Given the description of an element on the screen output the (x, y) to click on. 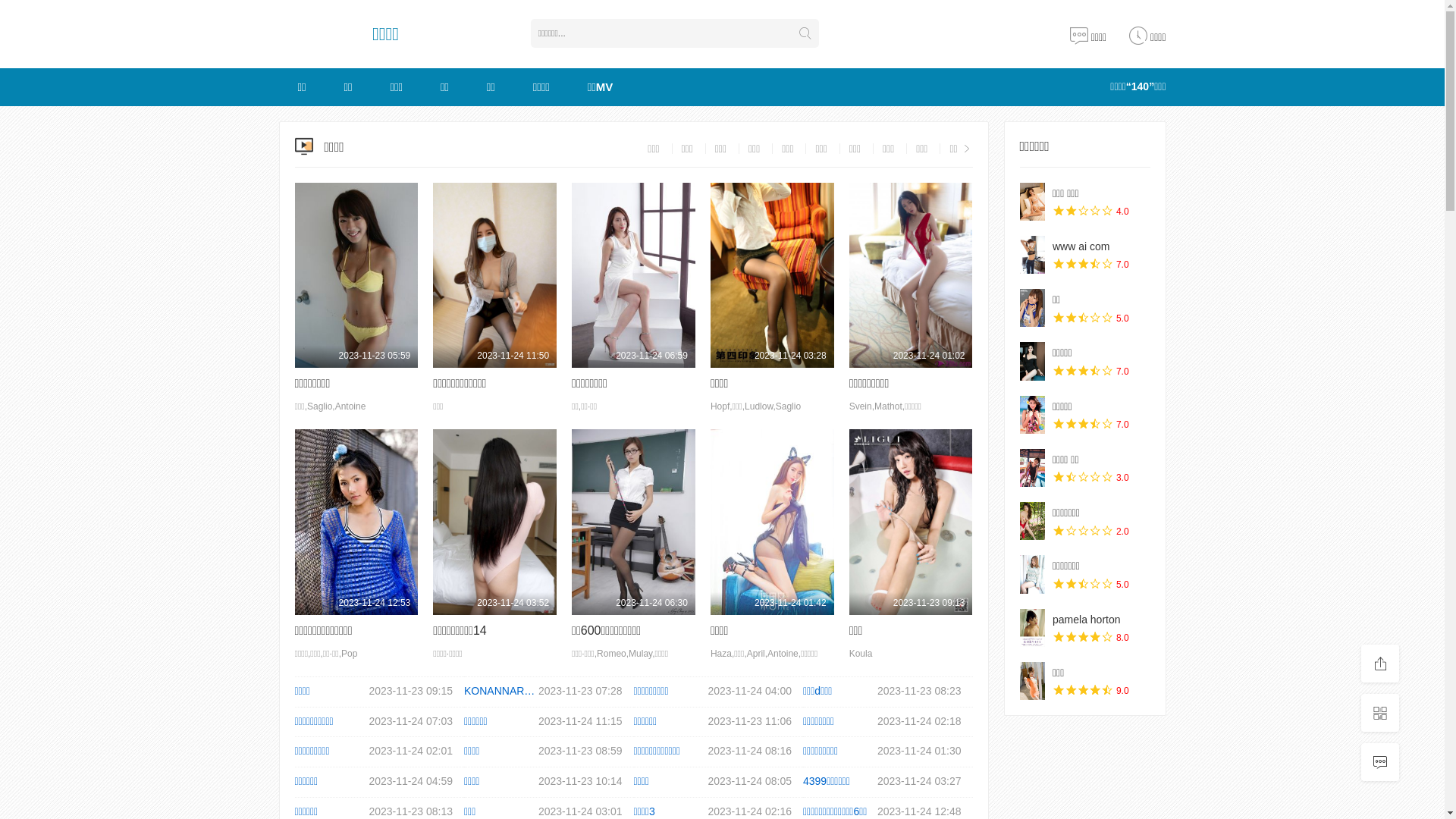
pamela horton Element type: hover (1031, 627)
2023-11-23 05:59 Element type: text (355, 274)
www ai com Element type: text (1080, 246)
2023-11-24 01:02 Element type: text (910, 274)
2023-11-24 01:42 Element type: text (772, 521)
2023-11-24 12:53 Element type: text (355, 521)
www ai com Element type: hover (1031, 254)
2023-11-24 03:52 Element type: text (494, 521)
2023-11-24 03:28 Element type: text (772, 274)
pamela horton Element type: text (1086, 619)
2023-11-23 09:13 Element type: text (910, 521)
2023-11-24 11:50 Element type: text (494, 274)
2023-11-24 06:59 Element type: text (633, 274)
2023-11-24 06:30 Element type: text (633, 521)
